Given the description of an element on the screen output the (x, y) to click on. 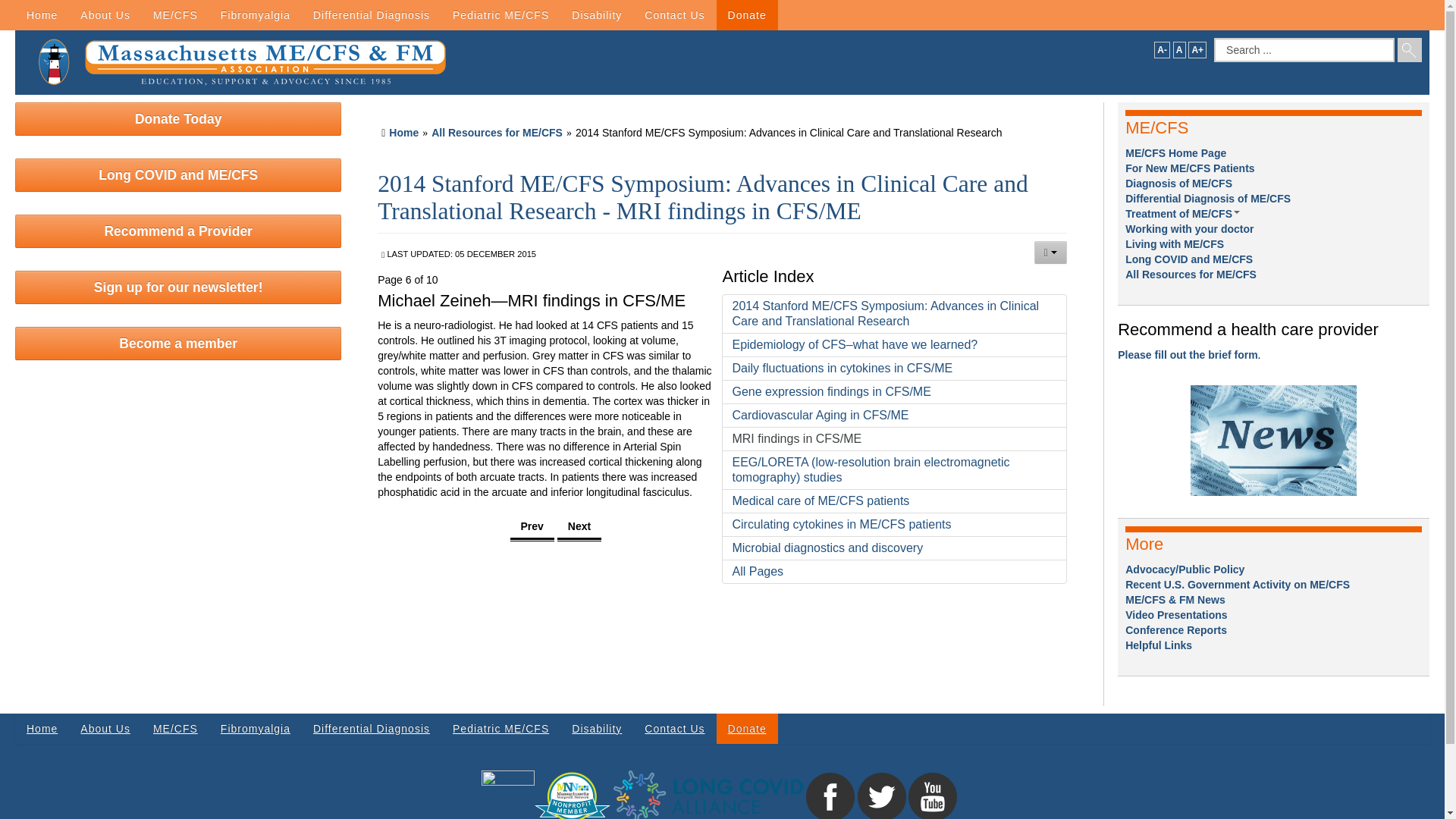
Disability (596, 15)
Prev (532, 527)
Differential Diagnosis (371, 15)
Recommend a Provider (177, 231)
Recommend a provider. Link opens in a new window. (1187, 354)
Home (403, 132)
Search (1409, 49)
About Us (104, 15)
Become a member (177, 343)
Home (41, 15)
Contact Us (674, 15)
Microbial diagnostics and discovery (893, 548)
Donate (746, 15)
All Pages (893, 571)
Search ... (1304, 49)
